Given the description of an element on the screen output the (x, y) to click on. 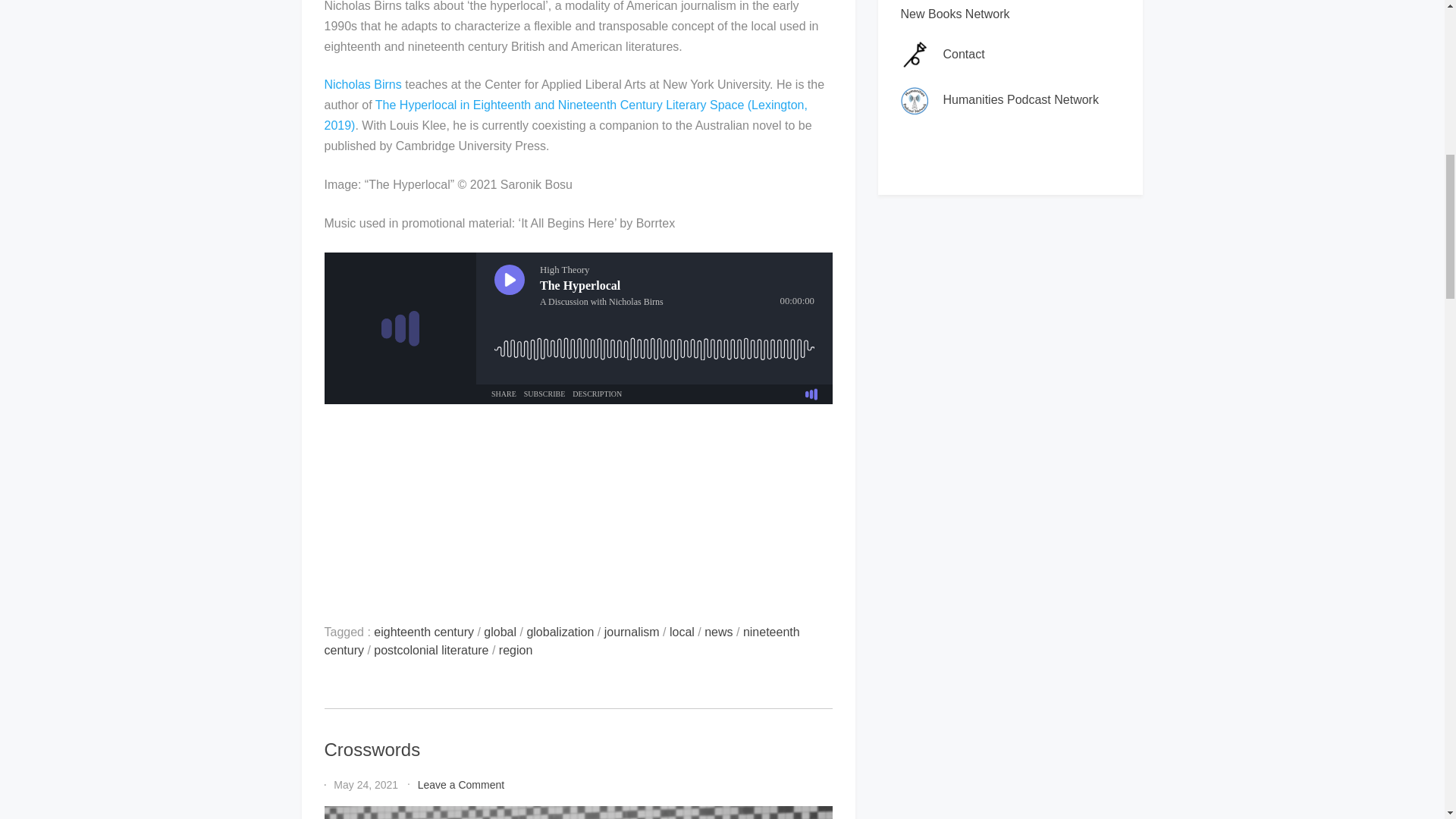
nineteenth century (561, 640)
May 24, 2021 (365, 784)
eighteenth century (424, 631)
news (718, 631)
global (499, 631)
journalism (631, 631)
postcolonial literature (430, 649)
Nicholas Birns (362, 83)
region (515, 649)
local (681, 631)
globalization (559, 631)
Crosswords (372, 749)
